Given the description of an element on the screen output the (x, y) to click on. 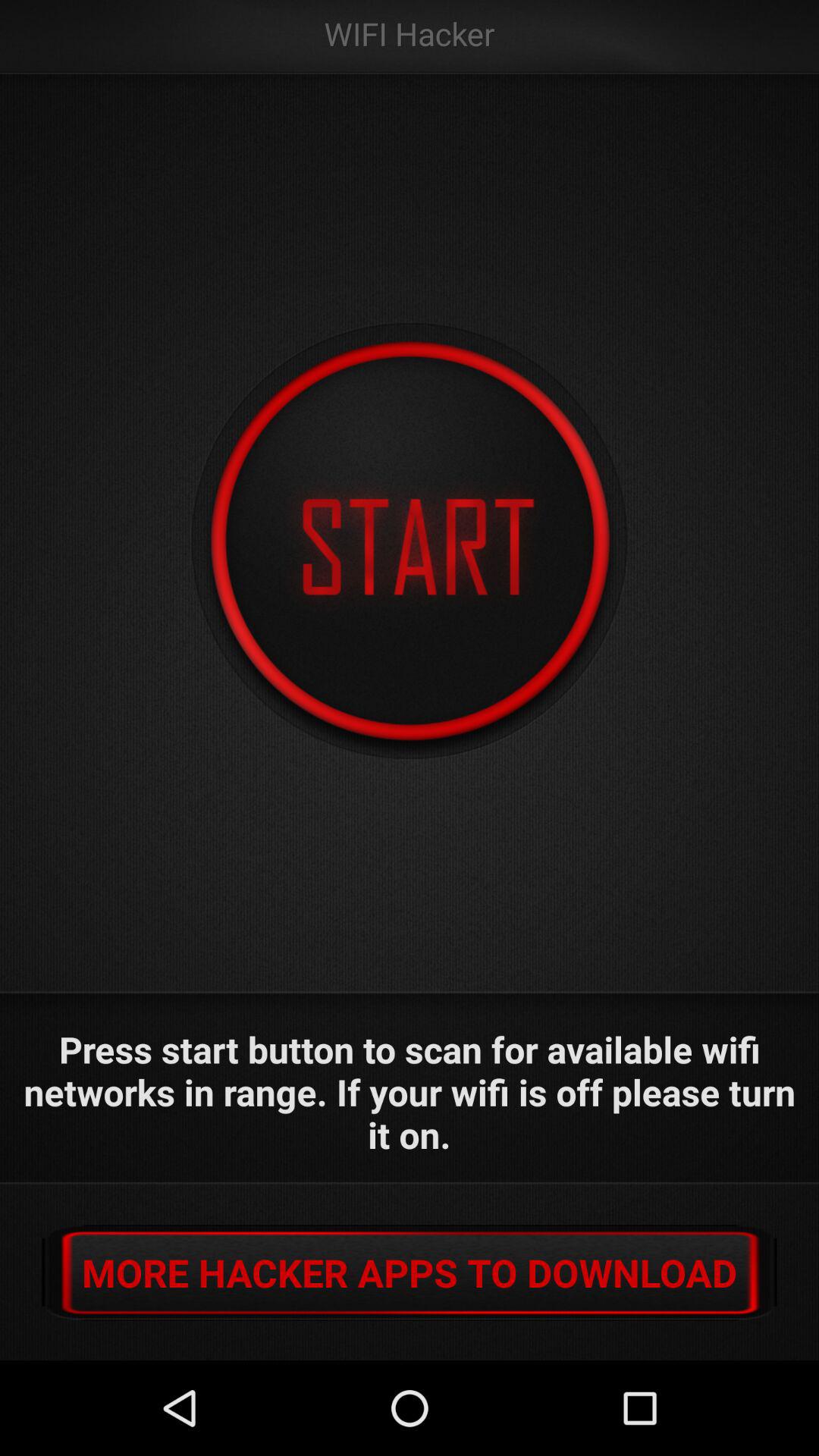
start scan (409, 541)
